Given the description of an element on the screen output the (x, y) to click on. 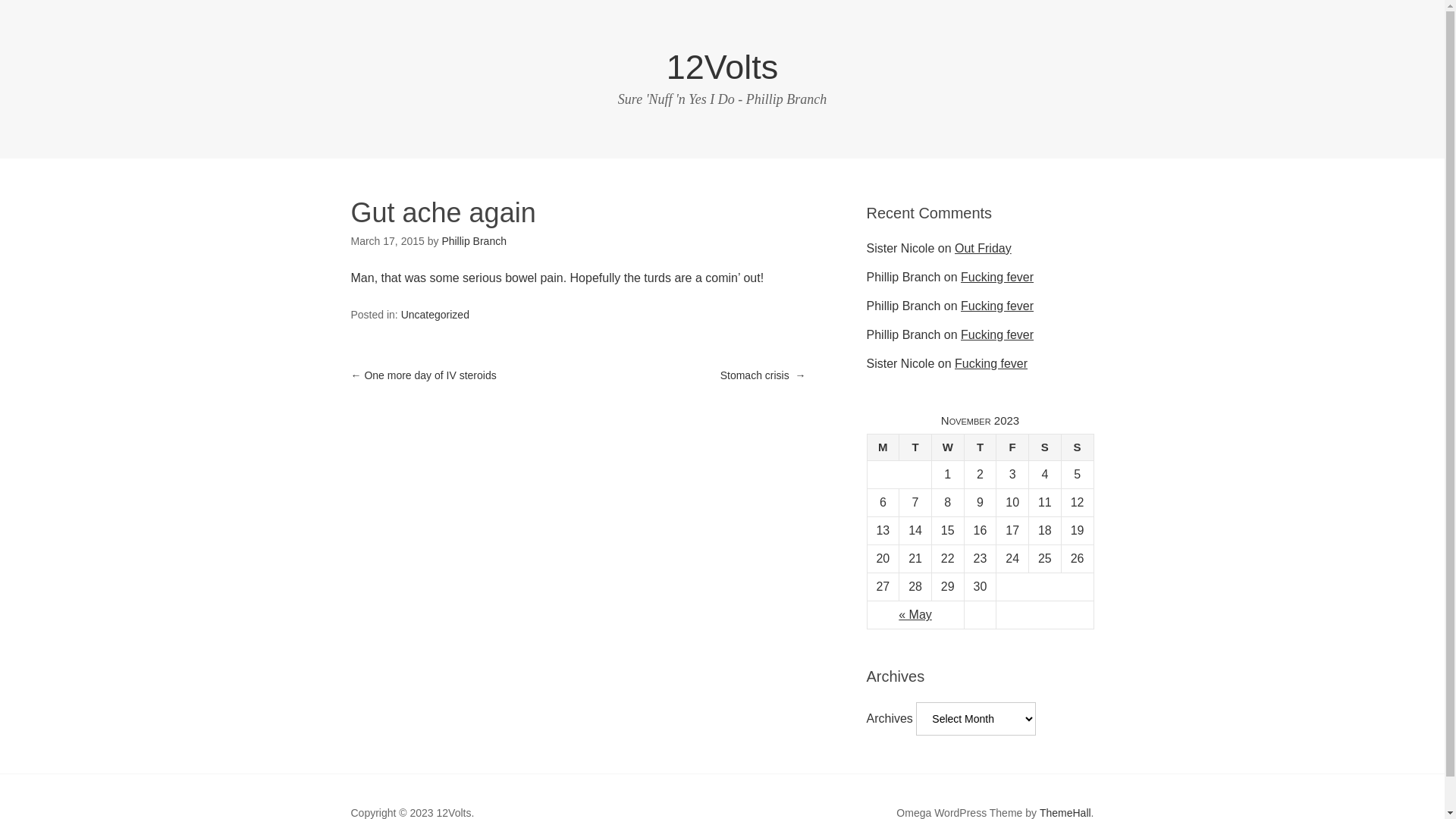
Fucking fever Element type: text (996, 276)
Phillip Branch Element type: text (473, 241)
Uncategorized Element type: text (435, 314)
12Volts Element type: text (722, 66)
Out Friday Element type: text (982, 247)
Fucking fever Element type: text (996, 334)
Fucking fever Element type: text (996, 305)
Fucking fever Element type: text (990, 363)
